Given the description of an element on the screen output the (x, y) to click on. 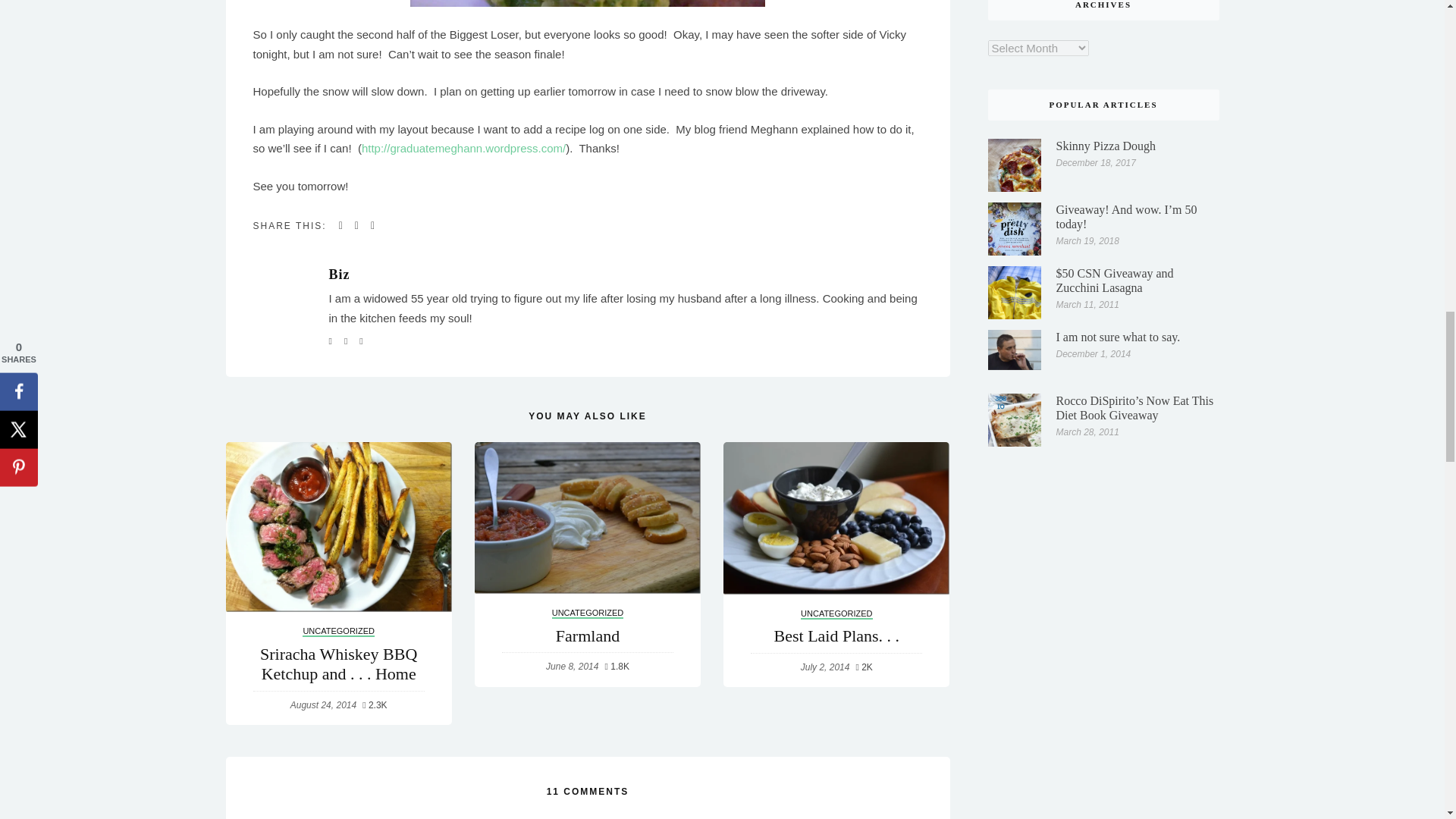
So Many Apps and Food T.V.! (587, 452)
dscn3536-640x4801 (587, 3)
Are Christmas Cards A Thing of the Past? (338, 452)
Skinny Pizza Dough (1014, 15)
